Given the description of an element on the screen output the (x, y) to click on. 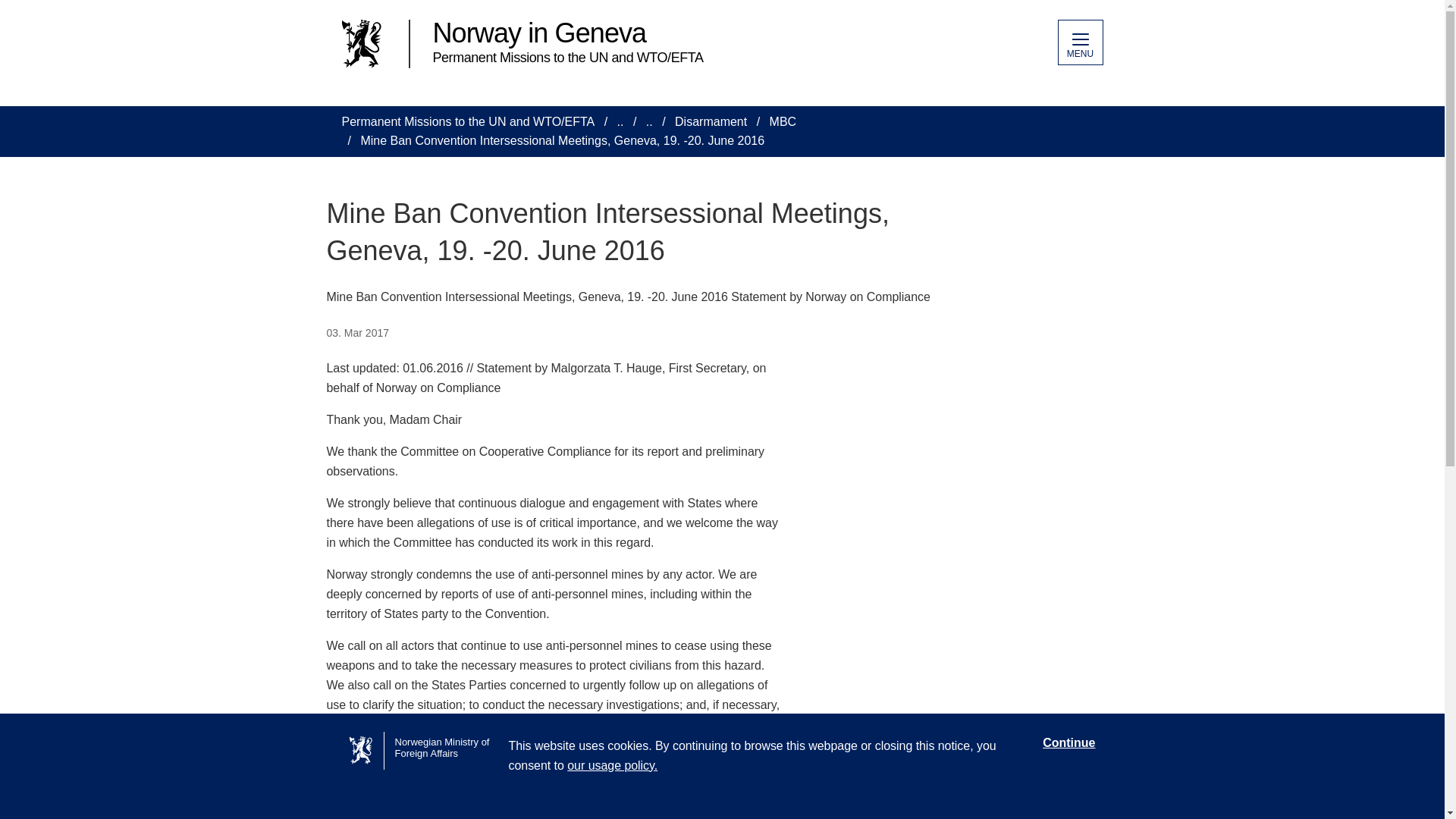
Continue (1068, 743)
MBC (783, 121)
our usage policy. (612, 765)
MENU (1079, 42)
Disarmament (710, 121)
MBC (783, 121)
Disarmament (710, 121)
